Given the description of an element on the screen output the (x, y) to click on. 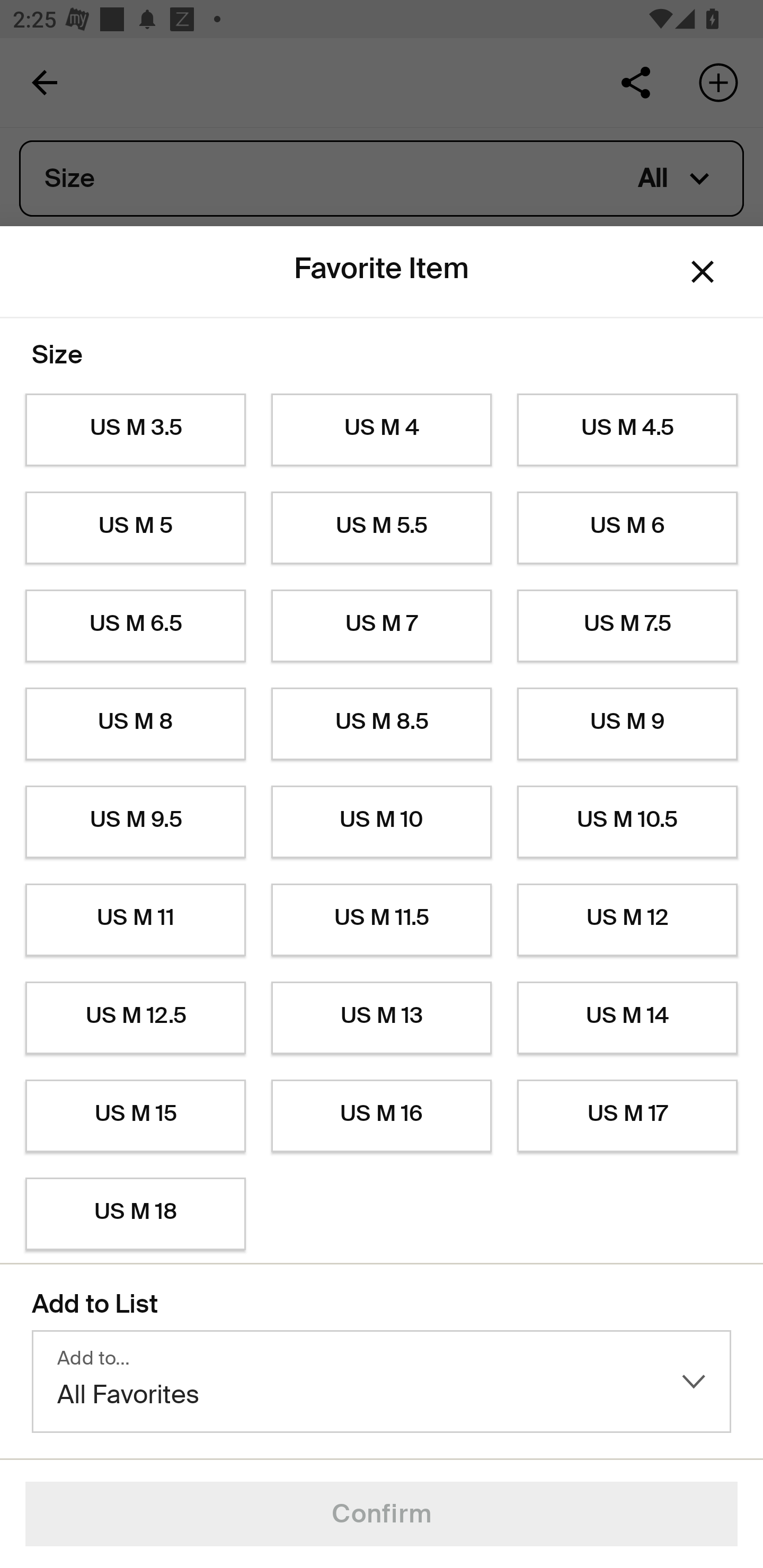
Dismiss (702, 271)
US M 3.5 (135, 430)
US M 4 (381, 430)
US M 4.5 (627, 430)
US M 5 (135, 527)
US M 5.5 (381, 527)
US M 6 (627, 527)
US M 6.5 (135, 626)
US M 7 (381, 626)
US M 7.5 (627, 626)
US M 8 (135, 724)
US M 8.5 (381, 724)
US M 9 (627, 724)
US M 9.5 (135, 822)
US M 10 (381, 822)
US M 10.5 (627, 822)
US M 11 (135, 919)
US M 11.5 (381, 919)
US M 12 (627, 919)
US M 12.5 (135, 1018)
US M 13 (381, 1018)
US M 14 (627, 1018)
US M 15 (135, 1116)
US M 16 (381, 1116)
US M 17 (627, 1116)
US M 18 (135, 1214)
Add to… All Favorites (381, 1381)
Confirm (381, 1513)
